Given the description of an element on the screen output the (x, y) to click on. 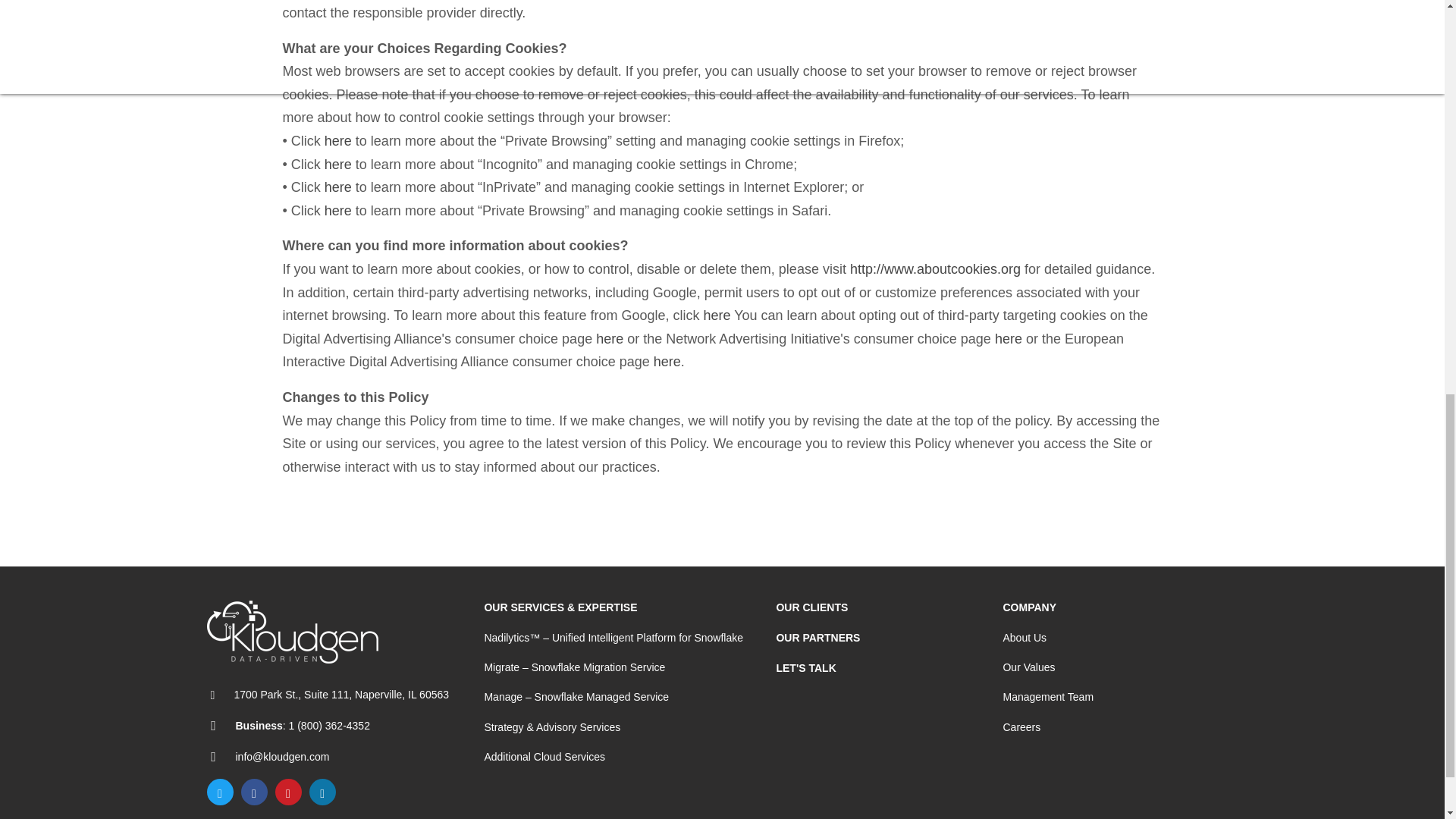
Twitter (219, 791)
here (338, 140)
facebook (254, 791)
Our Partners (818, 637)
Let's Talk (805, 667)
Youtube (288, 791)
Additional Cloud Services (544, 756)
here (716, 314)
here (338, 186)
here (338, 210)
